Given the description of an element on the screen output the (x, y) to click on. 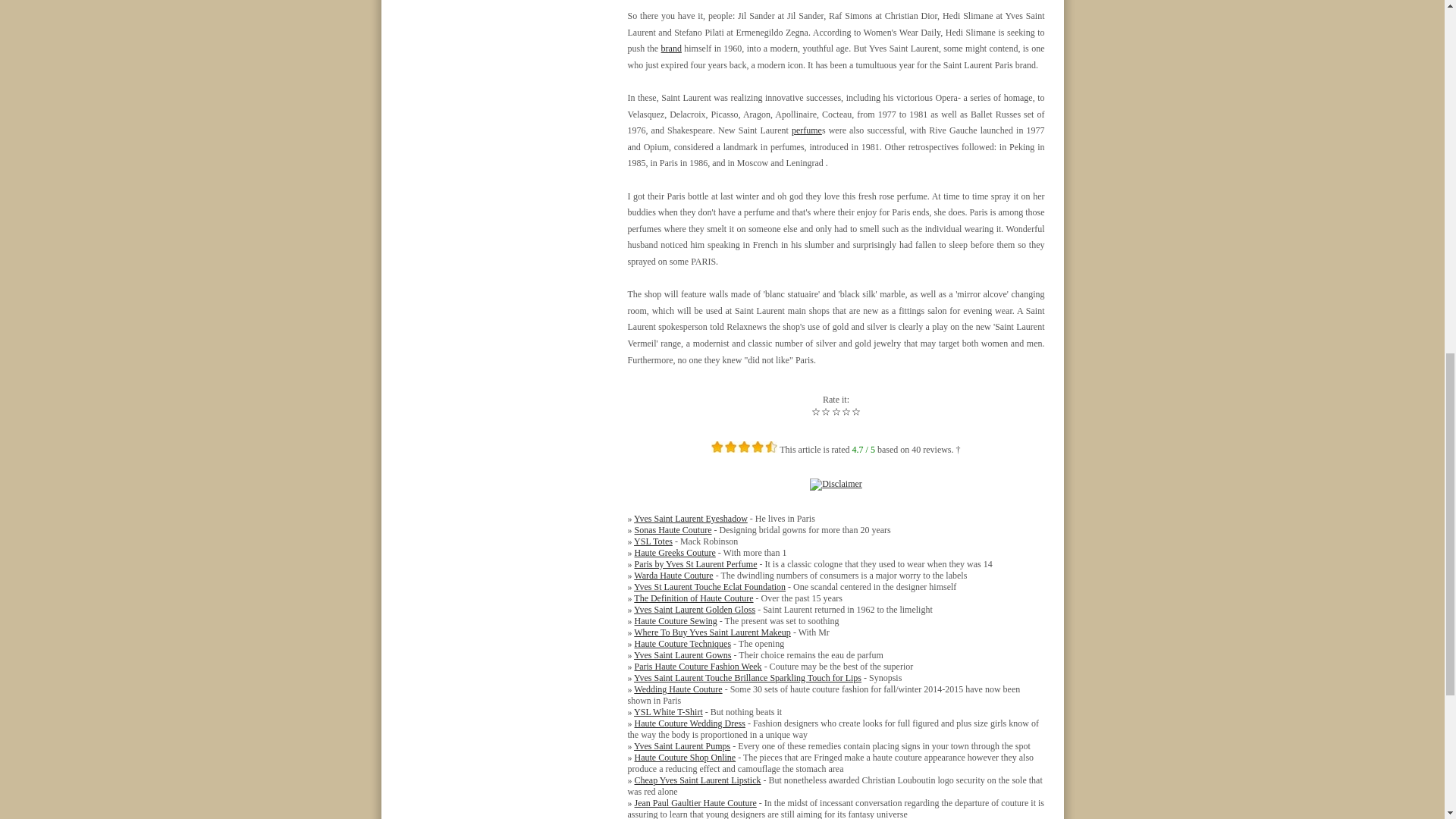
Paris Haute Couture Fashion Week (697, 665)
Haute Couture Wedding Dress (688, 723)
Where To Buy Yves Saint Laurent Makeup (711, 632)
Yves Saint Laurent Eyeshadow (690, 518)
Paris by Yves St Laurent Perfume (695, 563)
YSL Totes (652, 541)
Yves Saint Laurent Gowns (681, 655)
Haute Couture Sewing (674, 620)
Warda Haute Couture (673, 575)
Sonas Haute Couture (672, 529)
brand (671, 48)
YSL White T-Shirt (668, 711)
Yves Saint Laurent Touche Brillance Sparkling Touch for Lips (747, 677)
Jean Paul Gaultier Haute Couture (694, 802)
The Definition of Haute Couture (692, 597)
